Given the description of an element on the screen output the (x, y) to click on. 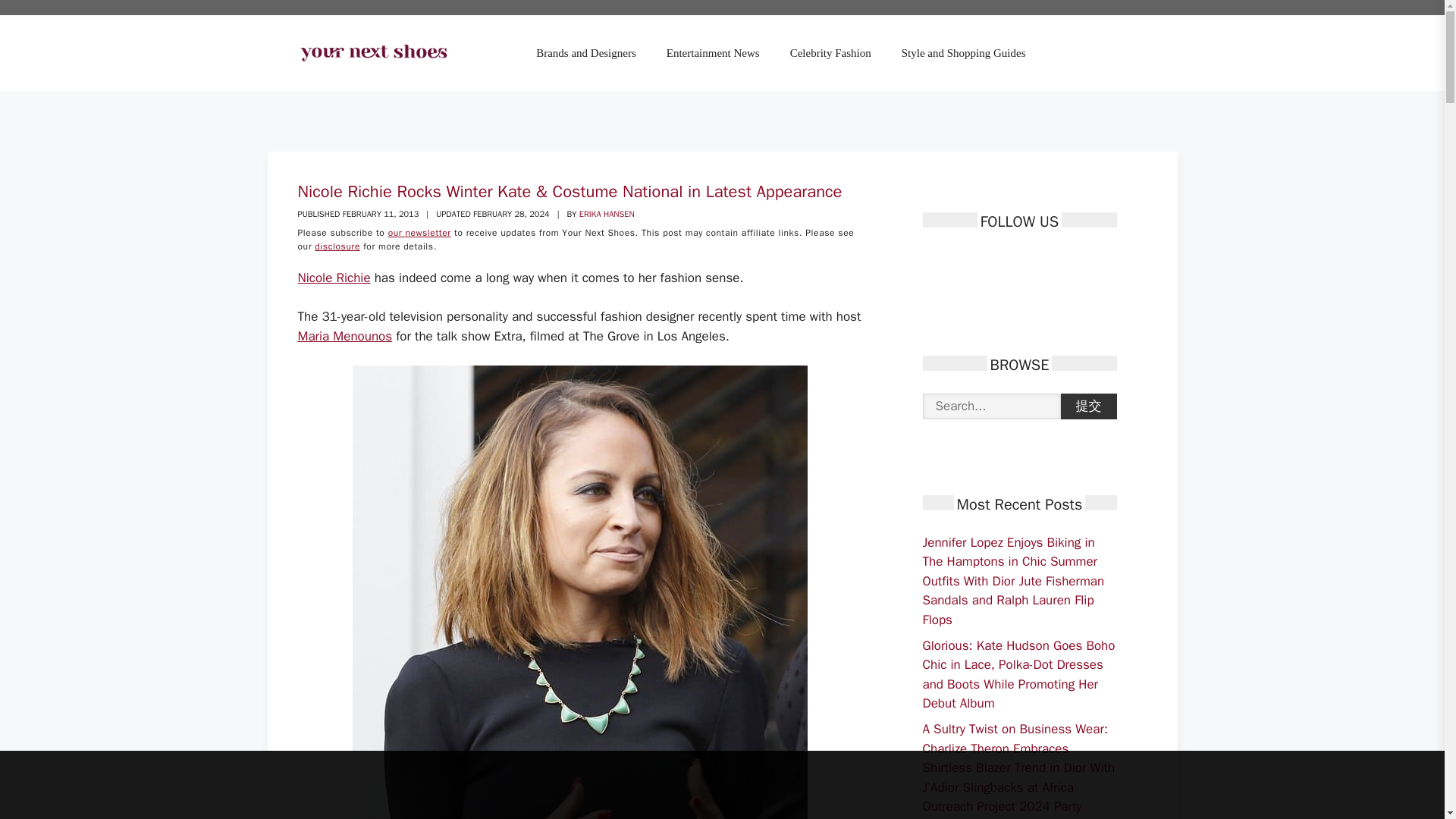
Brands and Designers (585, 53)
ERIKA HANSEN (606, 213)
Instagram (1014, 261)
Celebrity Fashion (830, 53)
Entertainment News (712, 53)
our newsletter (419, 232)
Style and Shopping Guides (963, 53)
Pinterest (986, 261)
Facebook (932, 261)
Nicole Richie (333, 277)
Twitter (960, 261)
disclosure (336, 246)
Maria Menounos (344, 335)
